Given the description of an element on the screen output the (x, y) to click on. 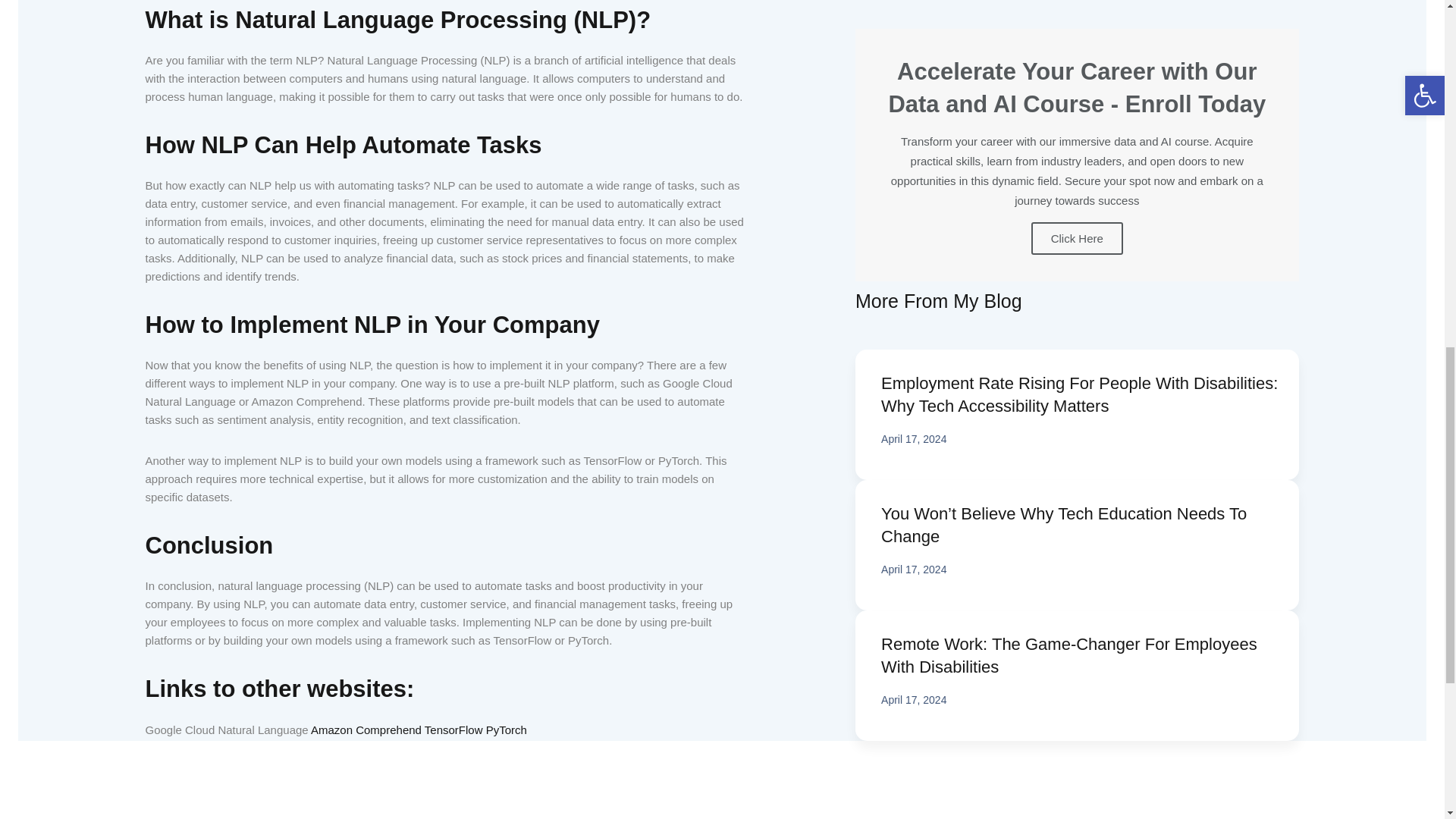
Amazon Comprehend (366, 729)
PyTorch (506, 729)
Sign up (722, 42)
TensorFlow (454, 729)
Click Here (1076, 237)
